Given the description of an element on the screen output the (x, y) to click on. 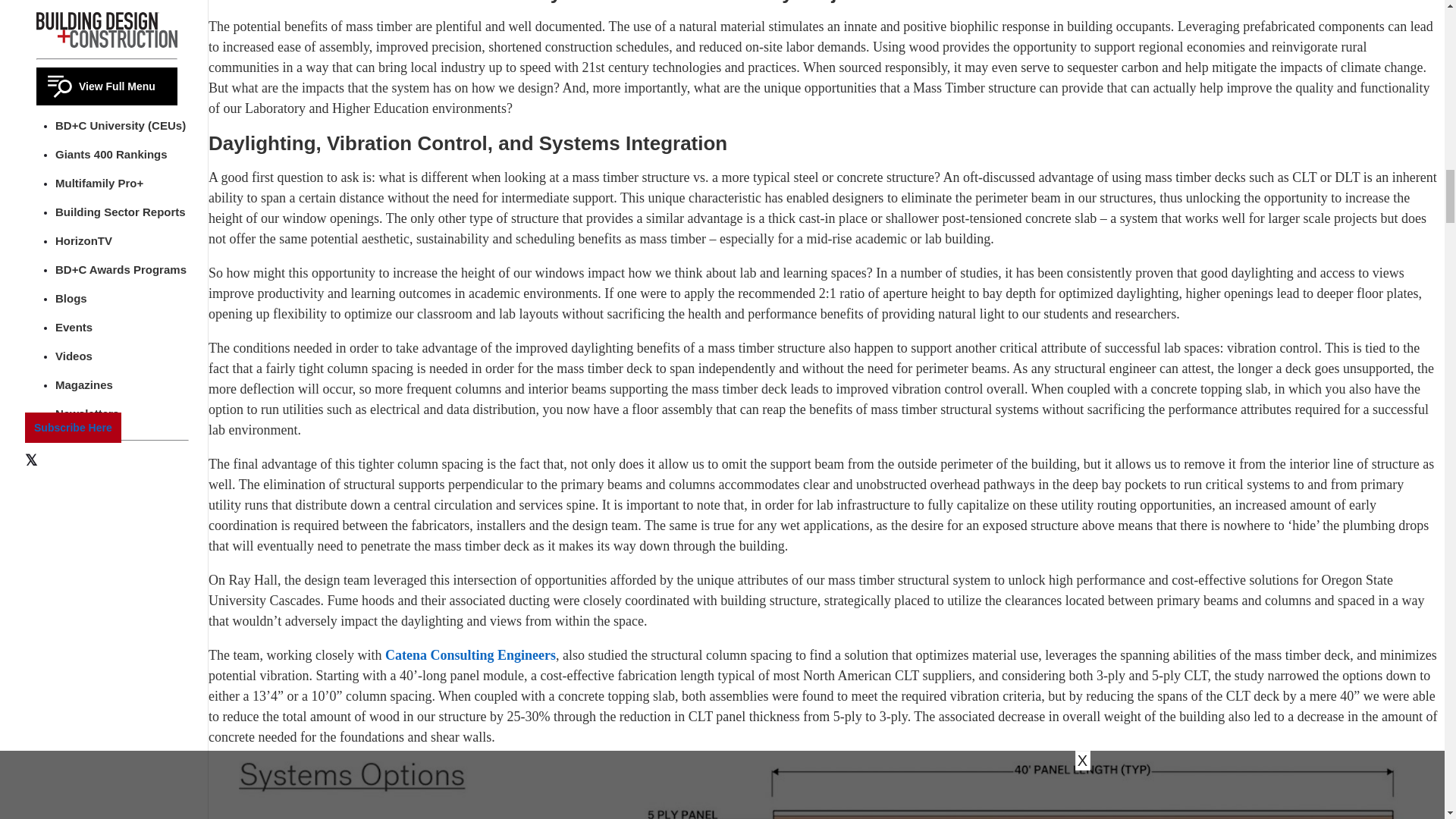
Catena Consulting Engineers (470, 654)
